Given the description of an element on the screen output the (x, y) to click on. 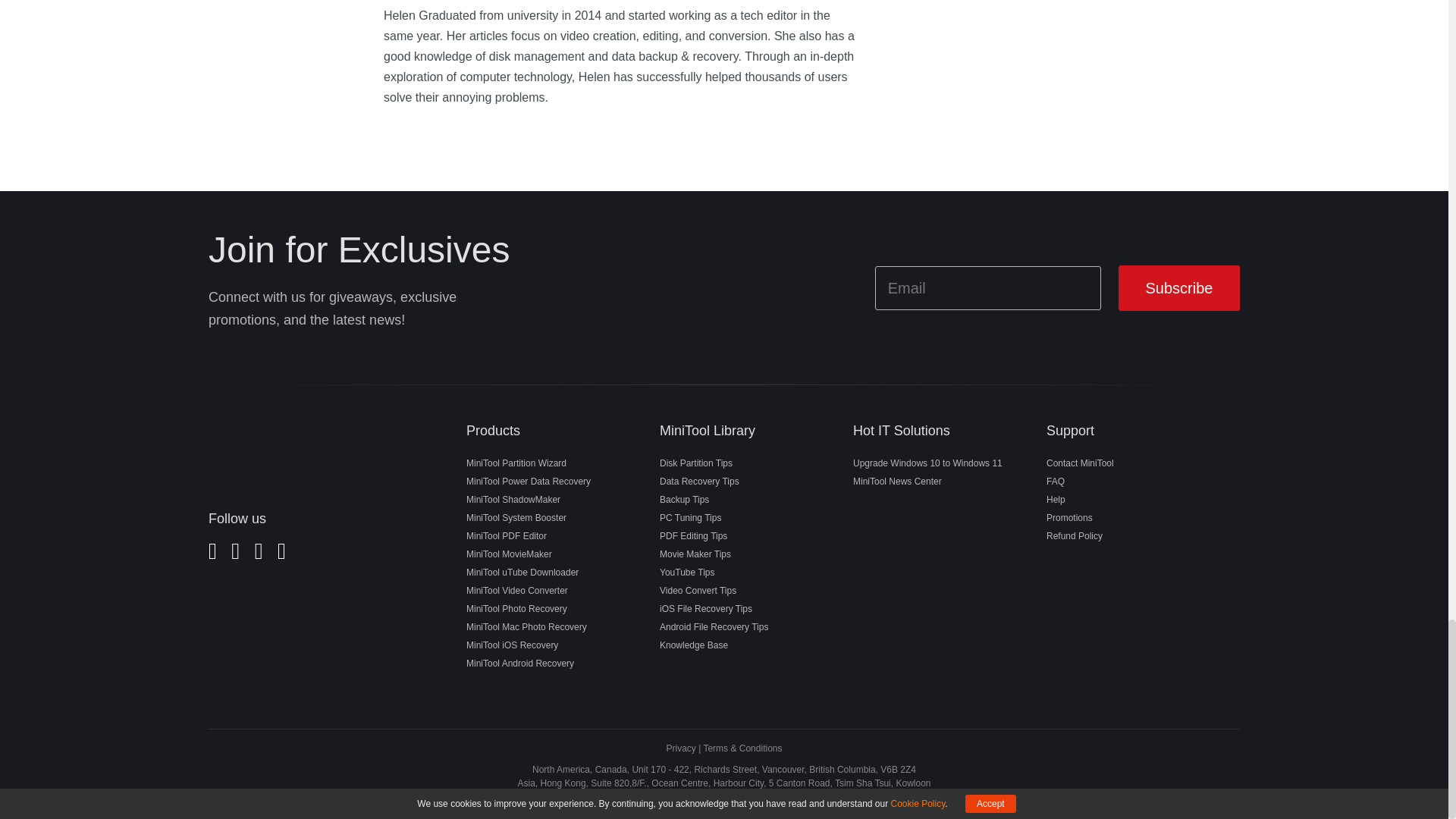
Subscribe (1179, 288)
Customer reviews powered by Trustpilot (299, 634)
